Given the description of an element on the screen output the (x, y) to click on. 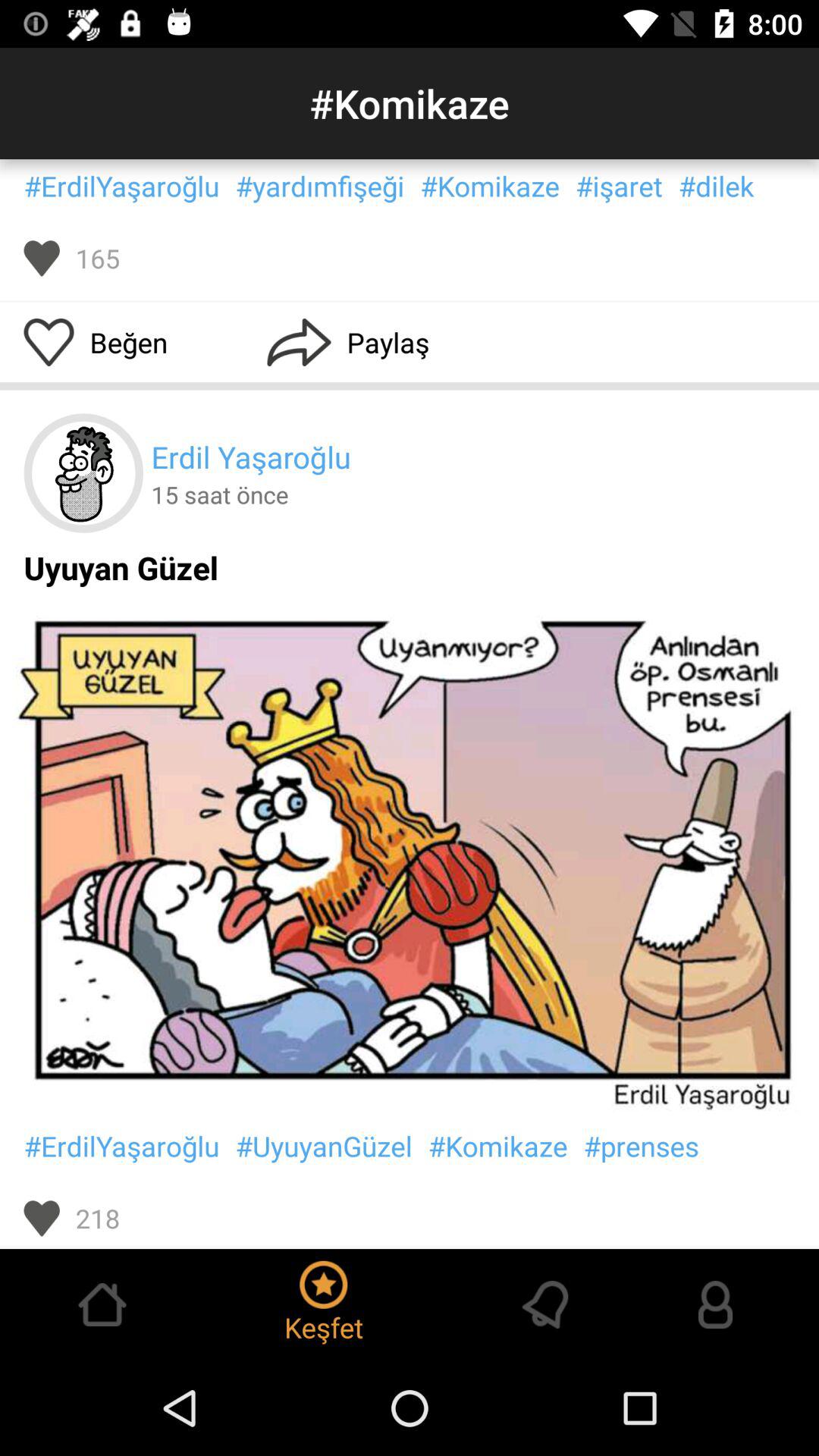
swipe until the #prenses icon (640, 1145)
